Given the description of an element on the screen output the (x, y) to click on. 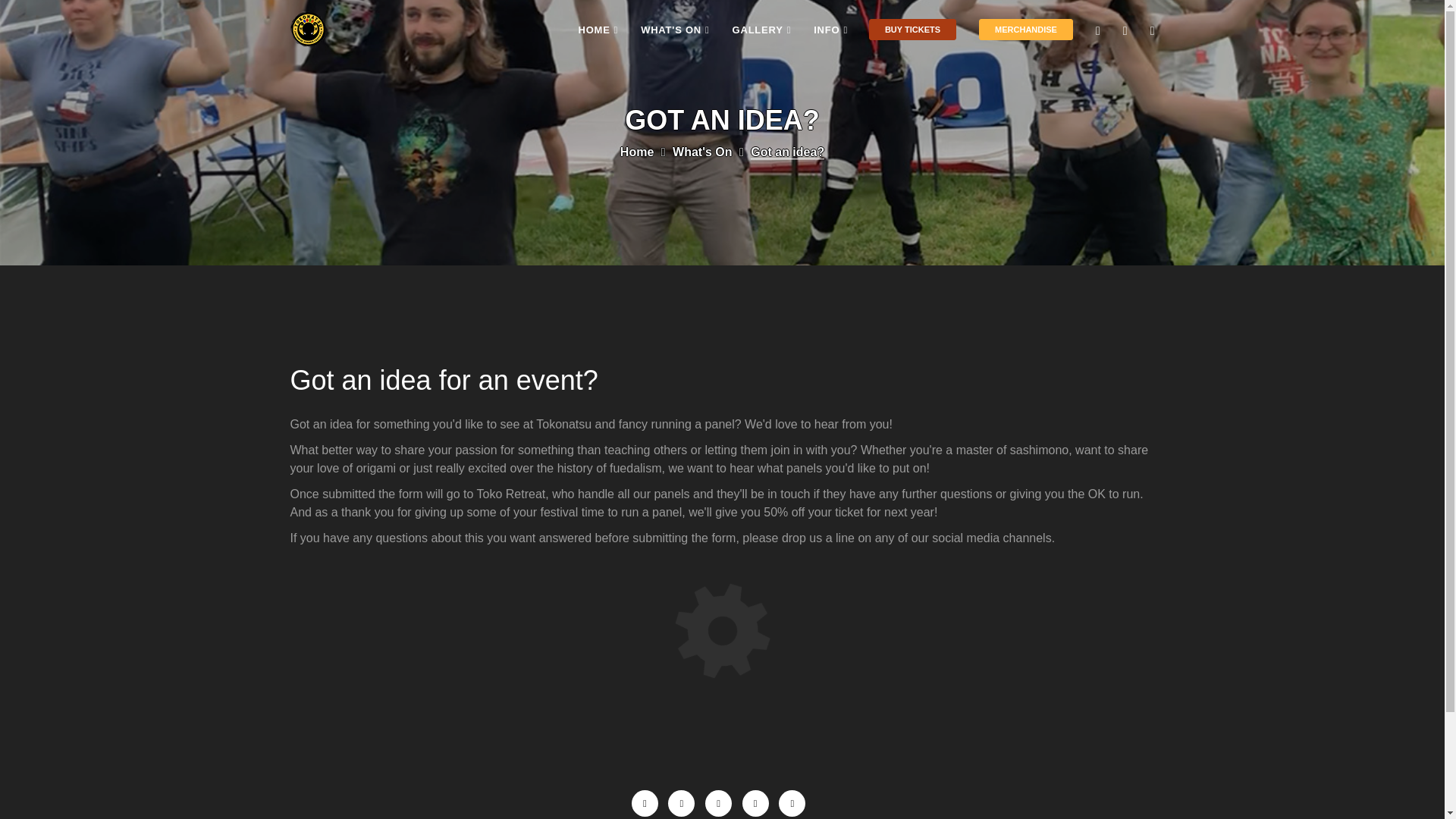
BUY TICKETS (912, 31)
HOME (597, 30)
INFO (830, 30)
MERCHANDISE (1026, 31)
GALLERY (761, 30)
WHAT'S ON (674, 30)
